Given the description of an element on the screen output the (x, y) to click on. 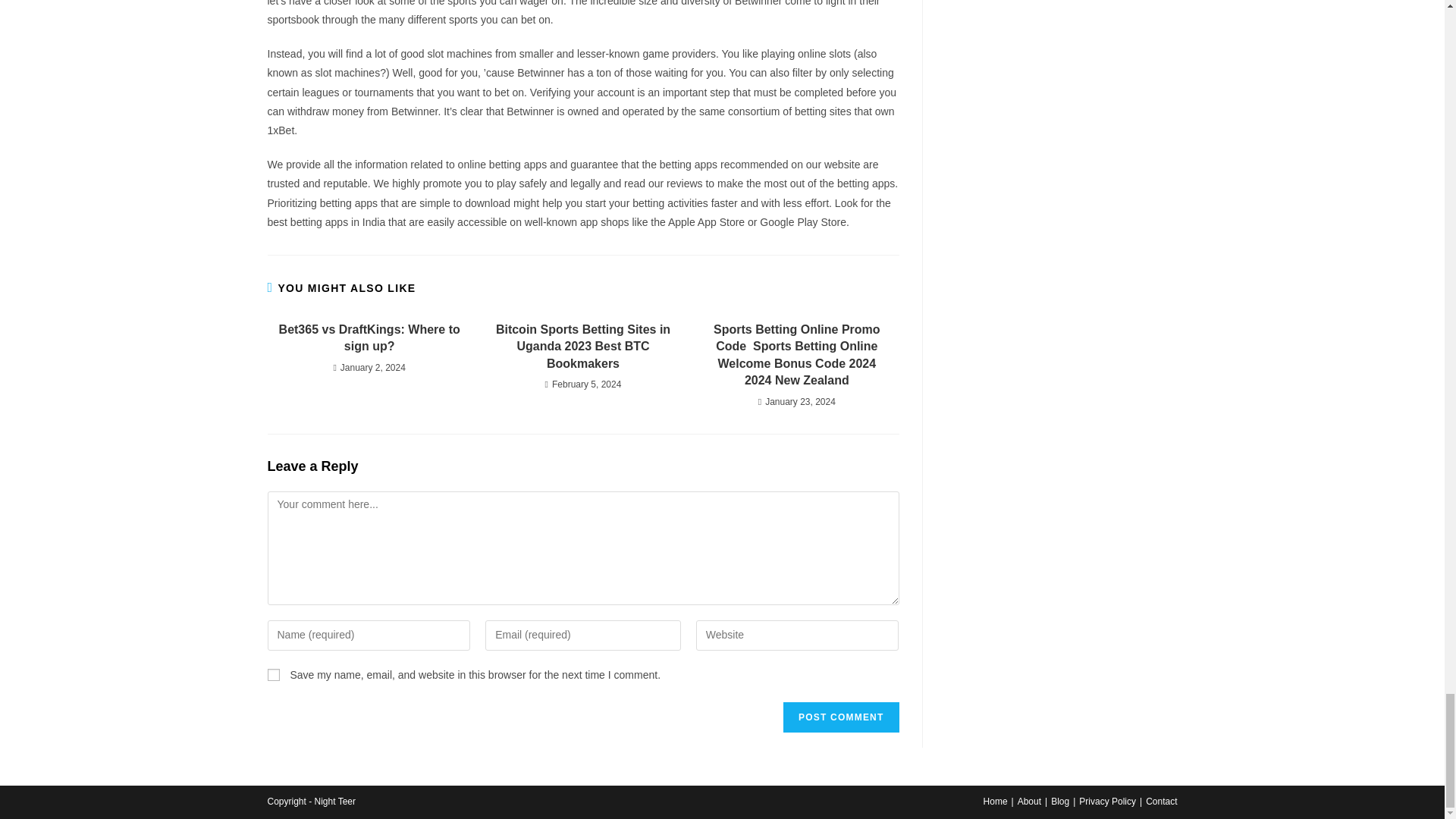
Home (995, 801)
About (1029, 801)
Privacy Policy (1106, 801)
Bet365 vs DraftKings: Where to sign up? (368, 338)
Blog (1059, 801)
Post Comment (840, 716)
Post Comment (840, 716)
Contact (1160, 801)
yes (272, 674)
